Given the description of an element on the screen output the (x, y) to click on. 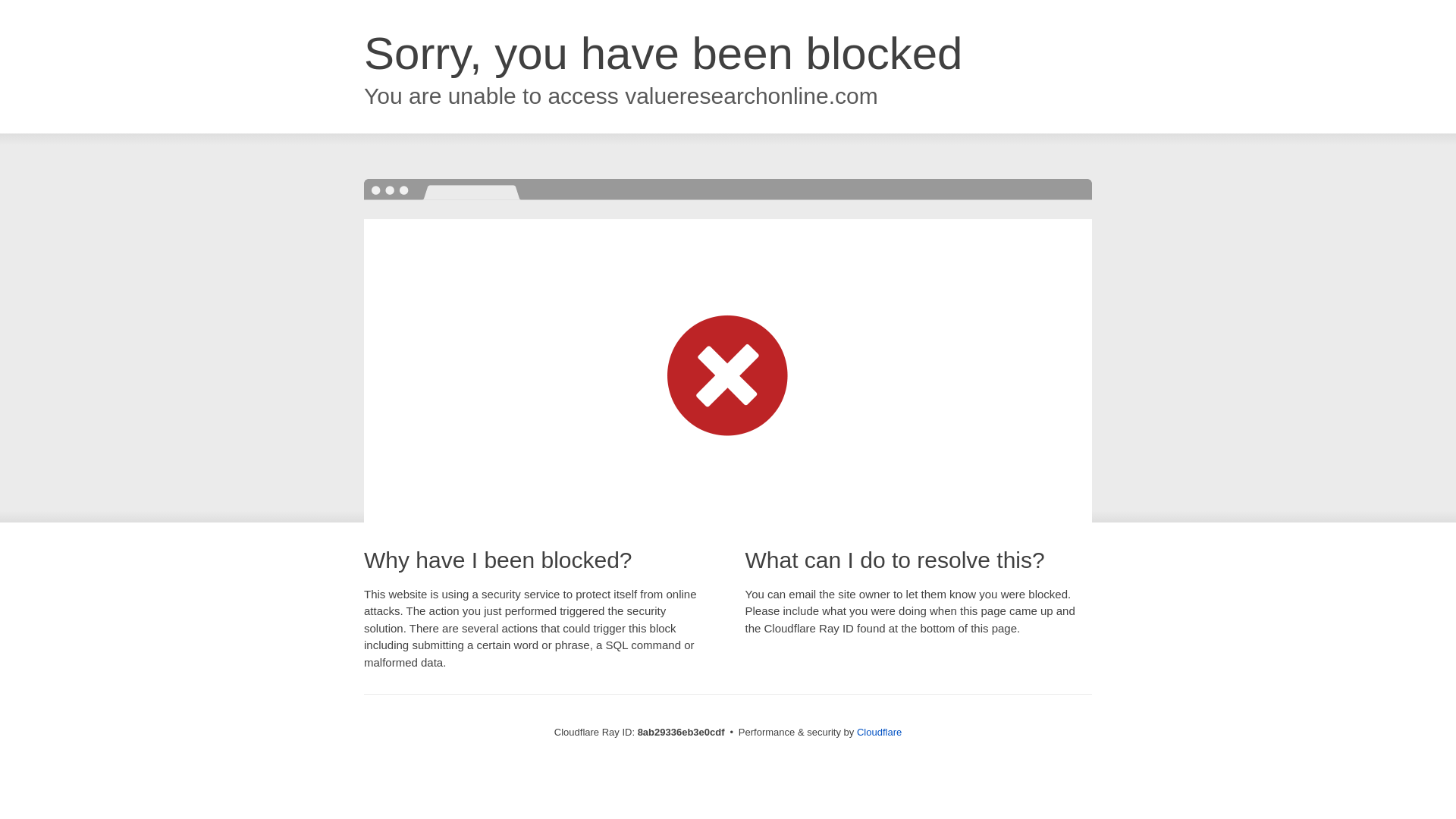
Cloudflare (879, 731)
